Given the description of an element on the screen output the (x, y) to click on. 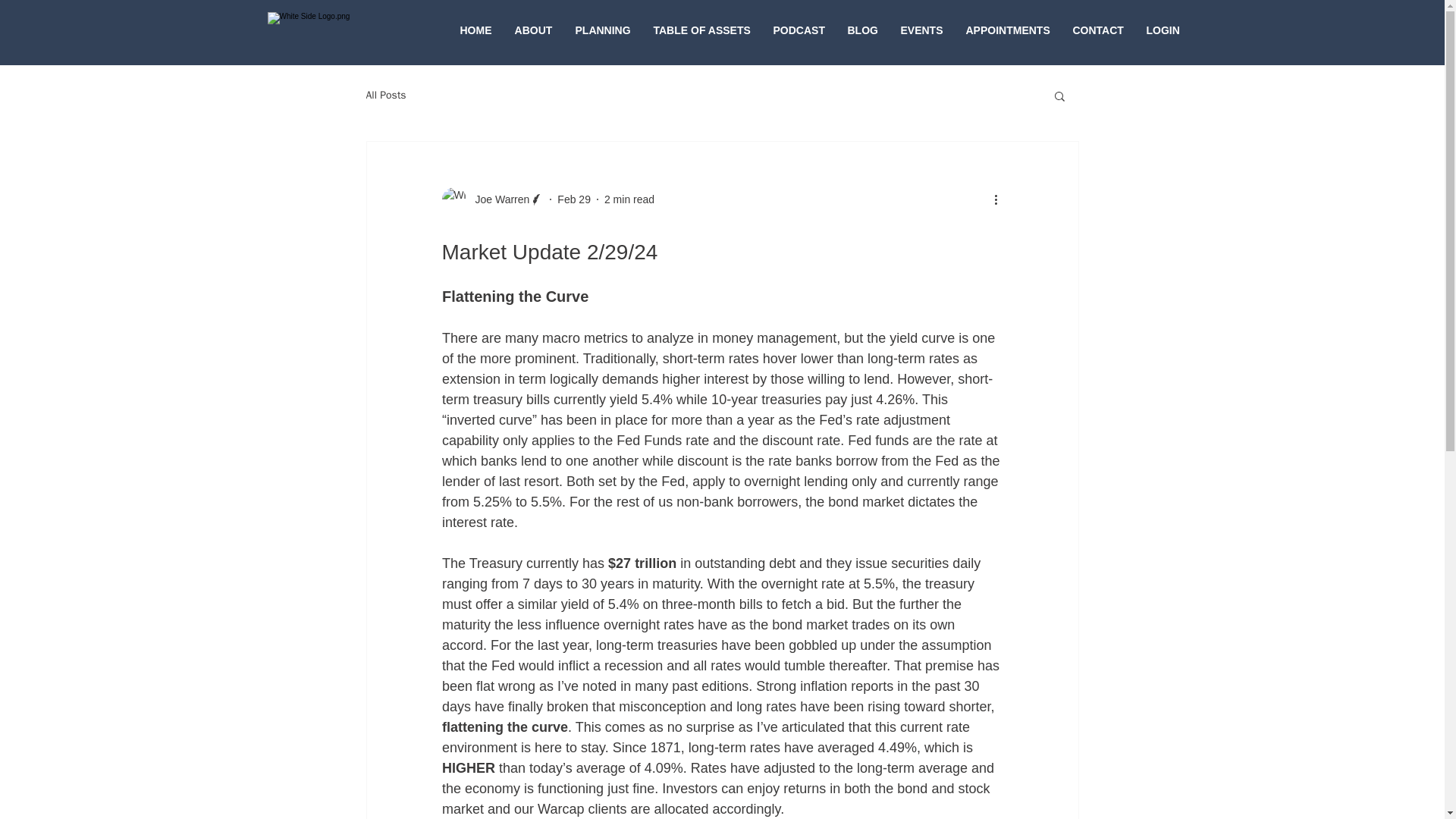
HOME (475, 30)
APPOINTMENTS (1007, 30)
2 min read (628, 198)
TABLE OF ASSETS (701, 30)
Feb 29 (574, 198)
PLANNING (603, 30)
BLOG (861, 30)
All Posts (385, 95)
ABOUT (533, 30)
Joe Warren (492, 199)
Joe Warren (497, 198)
CONTACT (1098, 30)
PODCAST (798, 30)
